Given the description of an element on the screen output the (x, y) to click on. 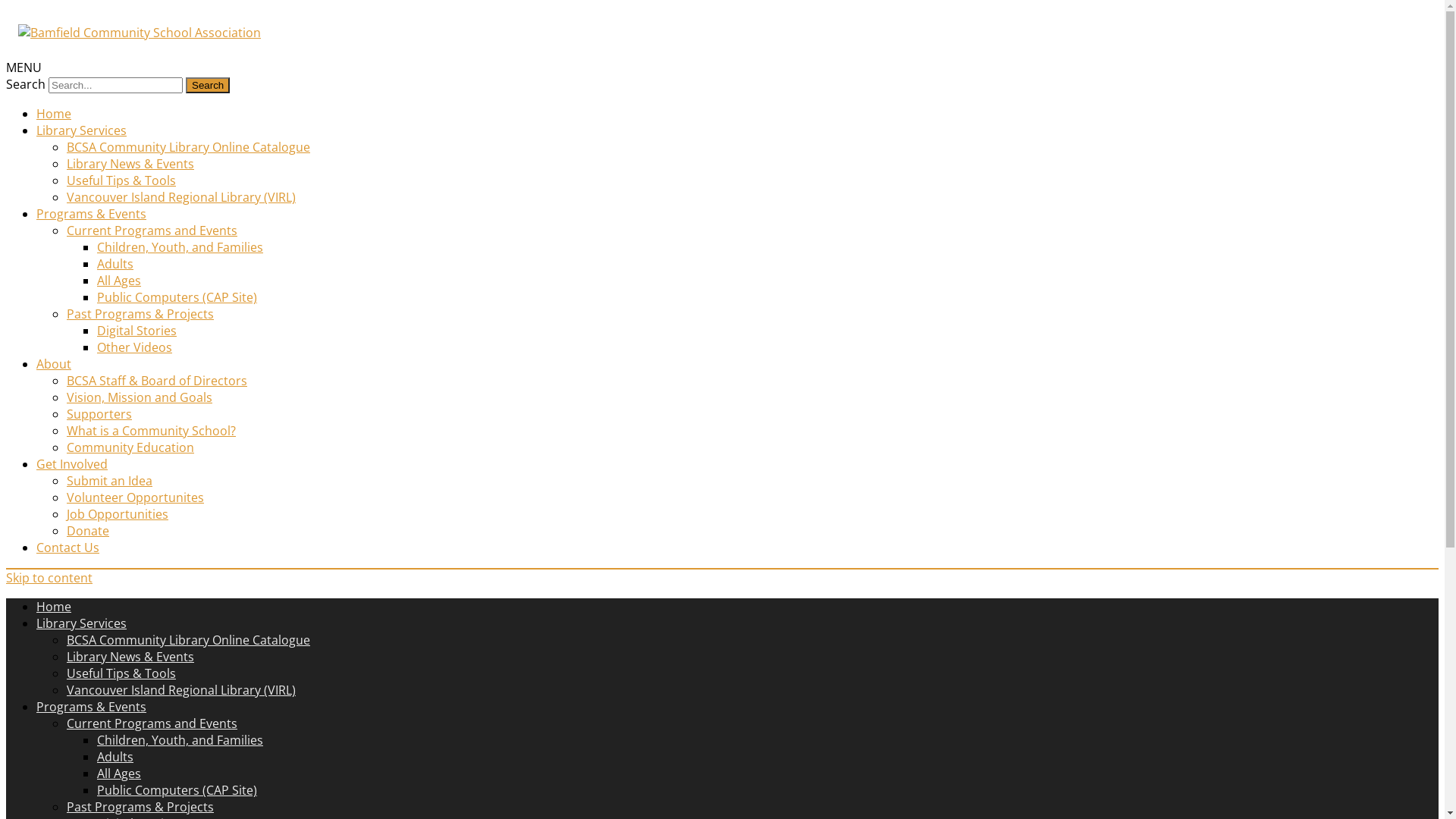
Home Element type: text (53, 113)
Community Education Element type: text (130, 447)
BCSA Community Library Online Catalogue Element type: text (188, 639)
Library News & Events Element type: text (130, 656)
Past Programs & Projects Element type: text (139, 806)
Digital Stories Element type: text (136, 330)
Past Programs & Projects Element type: text (139, 313)
Children, Youth, and Families Element type: text (180, 739)
Contact Us Element type: text (67, 547)
Programs & Events Element type: text (91, 213)
Home Element type: text (53, 606)
Skip to content Element type: text (49, 577)
Adults Element type: text (115, 263)
Vancouver Island Regional Library (VIRL) Element type: text (180, 196)
Current Programs and Events Element type: text (151, 230)
All Ages Element type: text (119, 280)
Useful Tips & Tools Element type: text (120, 673)
BCSA Staff & Board of Directors Element type: text (156, 380)
Public Computers (CAP Site) Element type: text (177, 789)
What is a Community School? Element type: text (150, 430)
Vancouver Island Regional Library (VIRL) Element type: text (180, 689)
Donate Element type: text (87, 530)
Get Involved Element type: text (71, 463)
Public Computers (CAP Site) Element type: text (177, 296)
Programs & Events Element type: text (91, 706)
Library Services Element type: text (81, 623)
Adults Element type: text (115, 756)
Supporters Element type: text (98, 413)
Useful Tips & Tools Element type: text (120, 180)
Submit an Idea Element type: text (109, 480)
Search Element type: text (207, 85)
All Ages Element type: text (119, 773)
Library News & Events Element type: text (130, 163)
Volunteer Opportunites Element type: text (134, 497)
BCSA Community Library Online Catalogue Element type: text (188, 146)
Library Services Element type: text (81, 130)
About Element type: text (53, 363)
Vision, Mission and Goals Element type: text (139, 397)
Other Videos Element type: text (134, 346)
Children, Youth, and Families Element type: text (180, 246)
Job Opportunities Element type: text (117, 513)
Current Programs and Events Element type: text (151, 723)
